Given the description of an element on the screen output the (x, y) to click on. 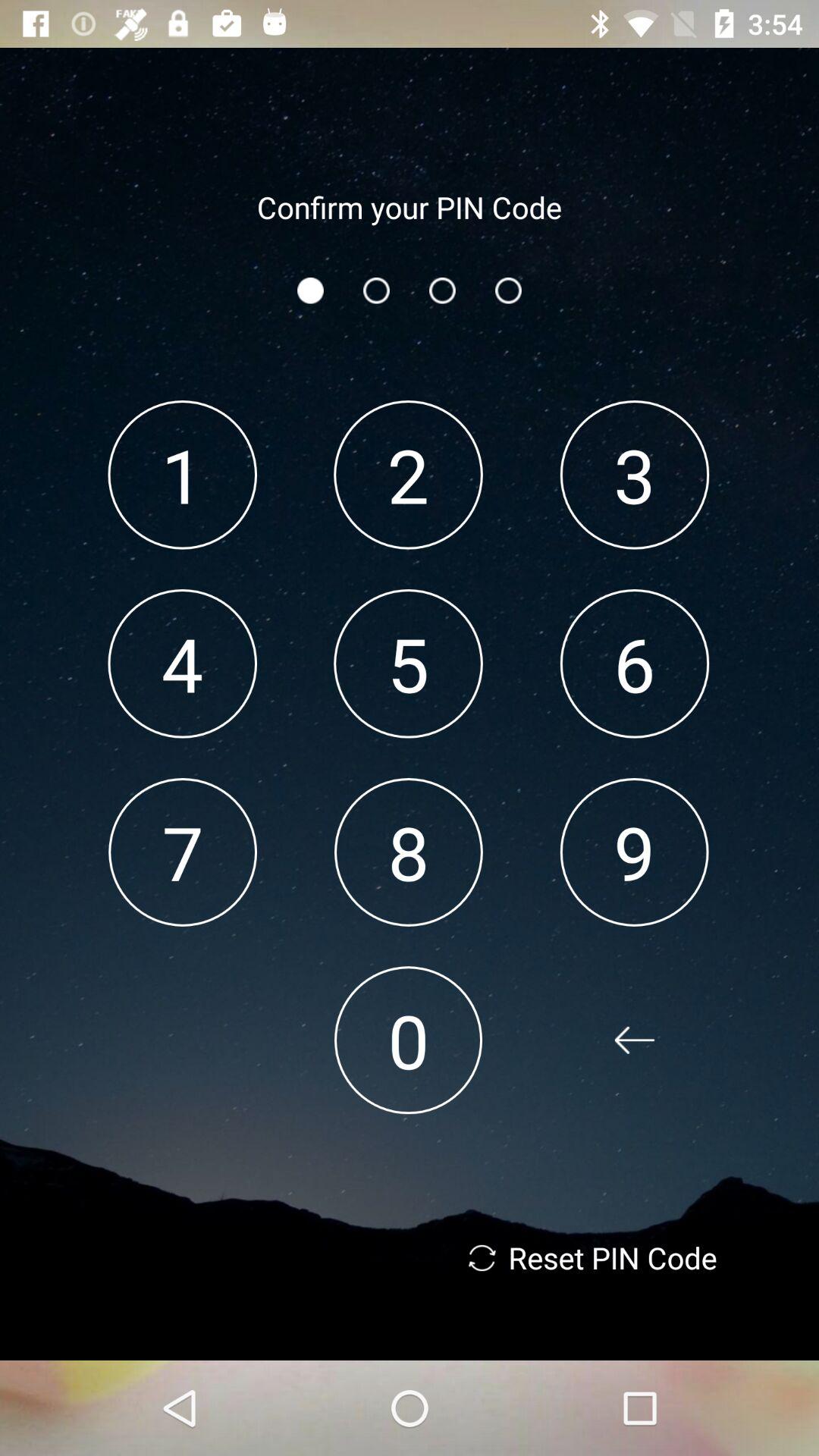
jump until the 9 (634, 852)
